Given the description of an element on the screen output the (x, y) to click on. 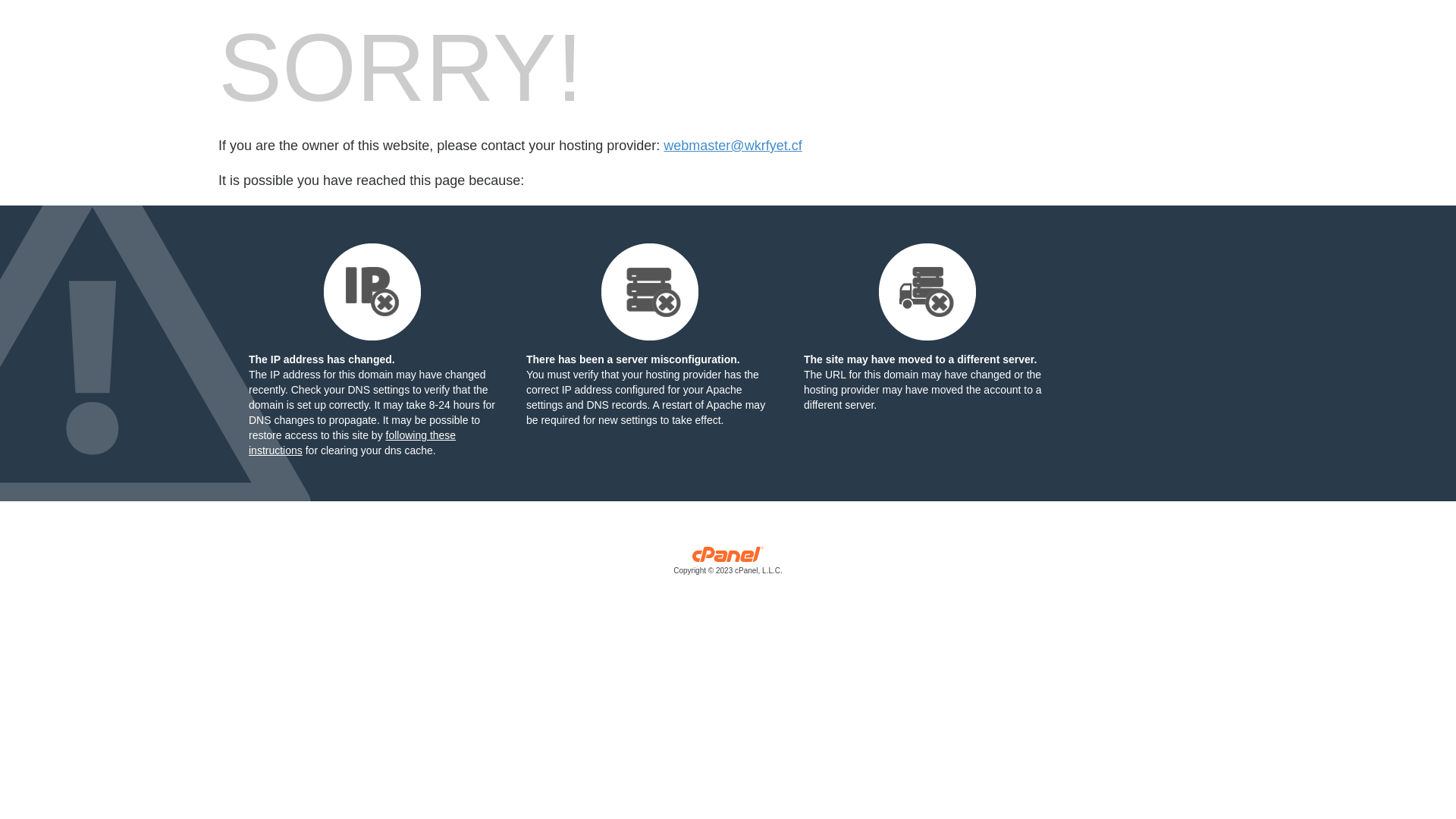
following these instructions Element type: text (351, 442)
webmaster@wkrfyet.cf Element type: text (732, 145)
